Given the description of an element on the screen output the (x, y) to click on. 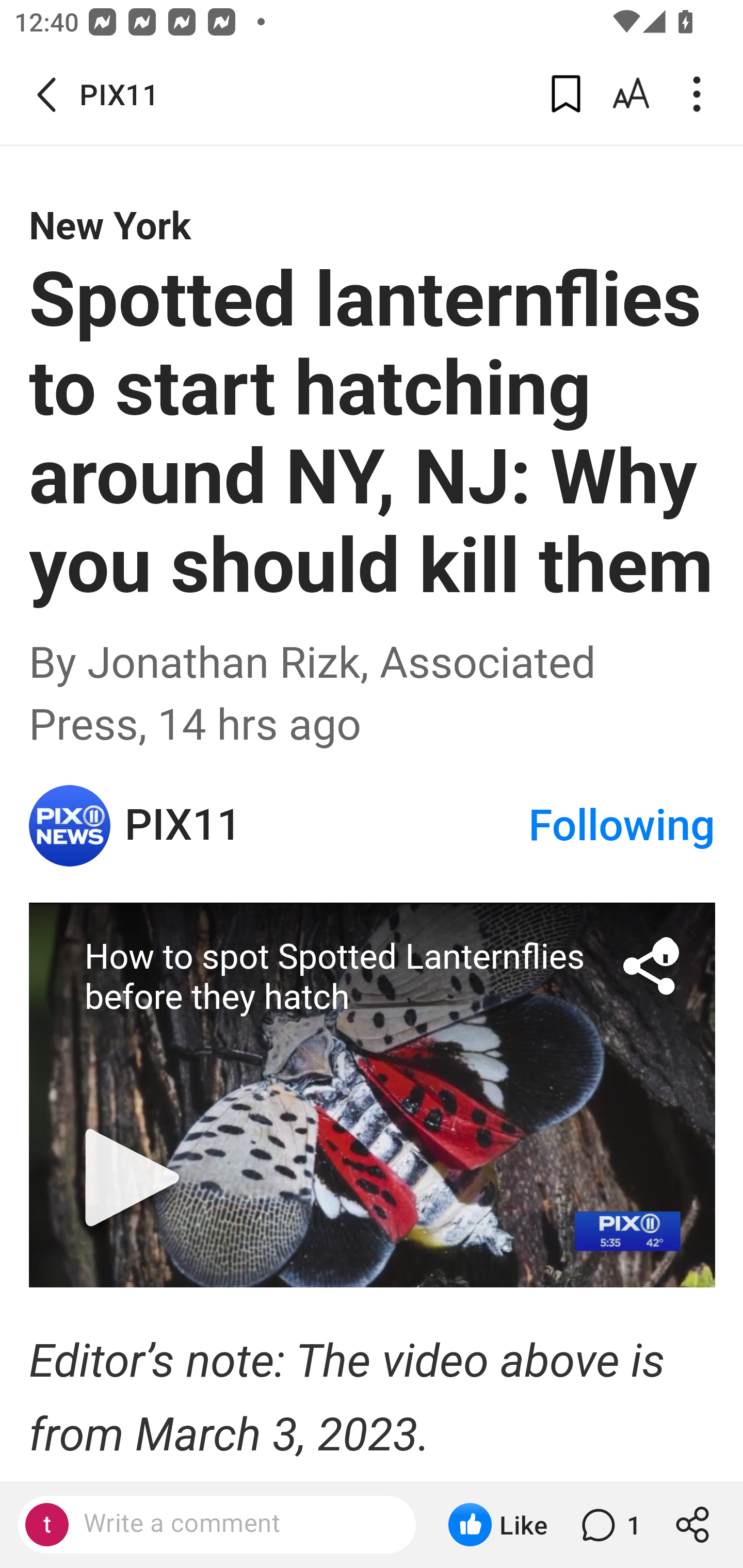
PIX11 (70, 825)
PIX11 (325, 826)
Following (621, 825)
How to spot Spotted Lanternflies before they hatch (372, 1094)
Like (497, 1524)
1 (608, 1524)
Write a comment (216, 1524)
Write a comment (234, 1523)
